Given the description of an element on the screen output the (x, y) to click on. 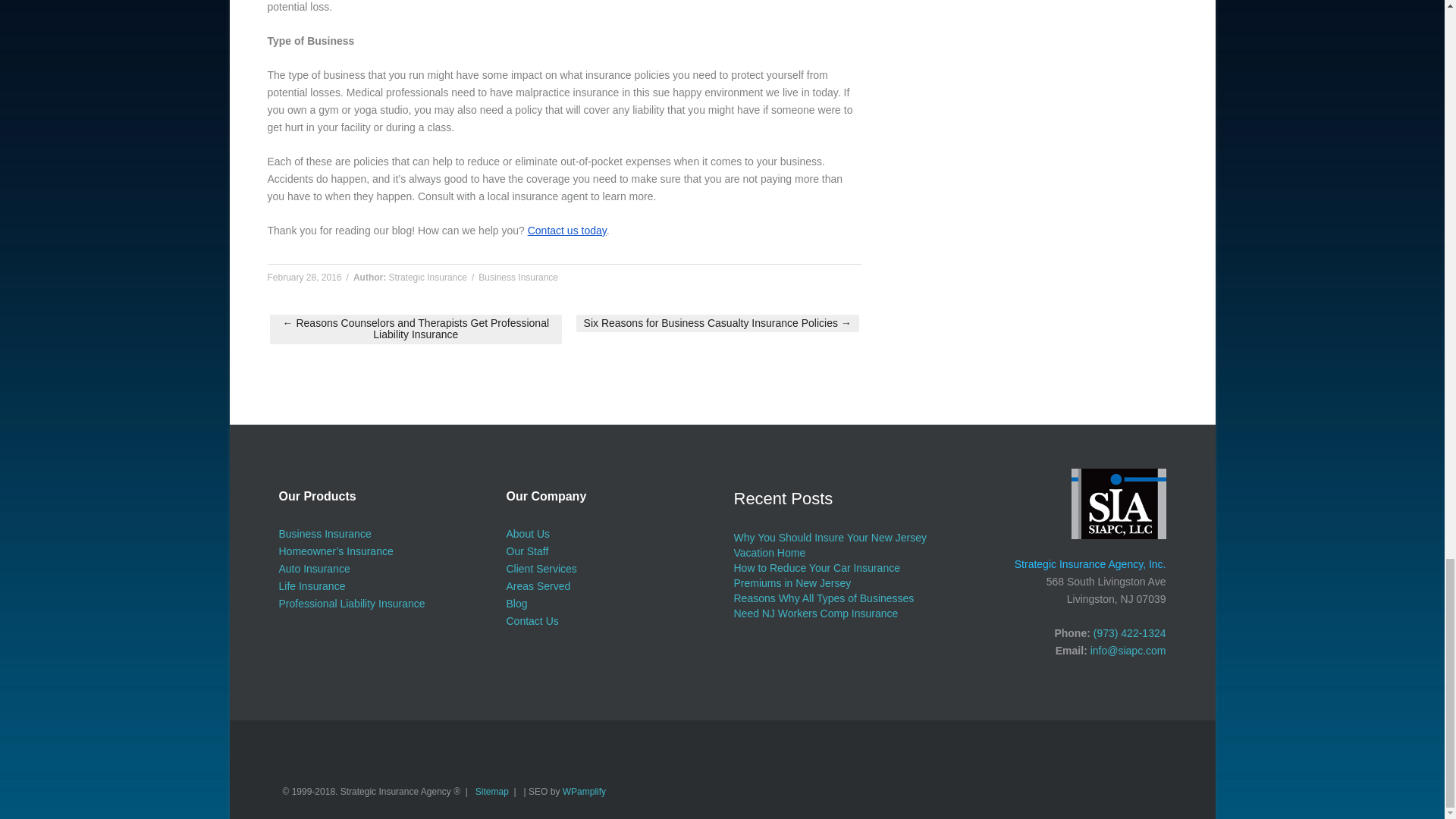
Business Insurance (325, 533)
Business Insurance (518, 276)
Strategic Insurance (427, 276)
Contact us today (567, 230)
View all posts by Strategic Insurance (427, 276)
